Given the description of an element on the screen output the (x, y) to click on. 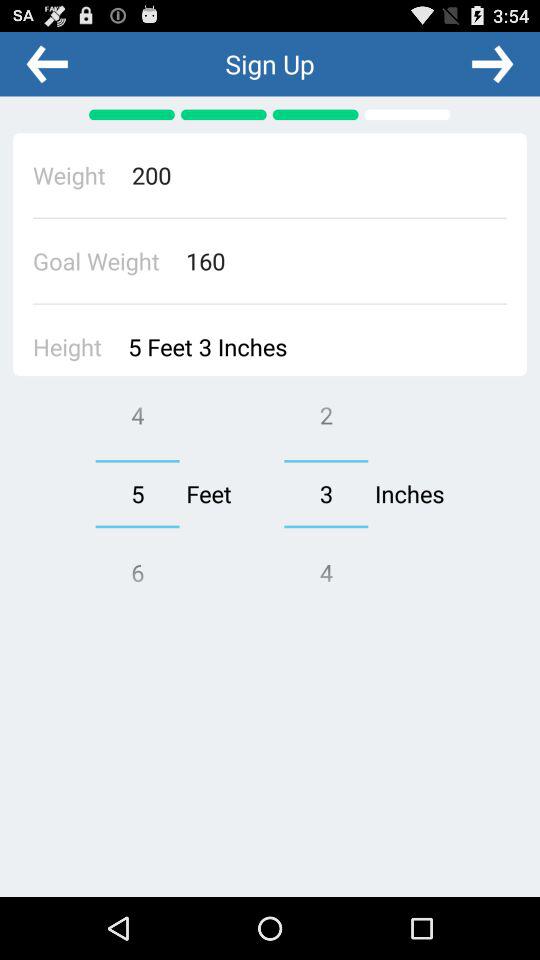
continue to next page (492, 63)
